Given the description of an element on the screen output the (x, y) to click on. 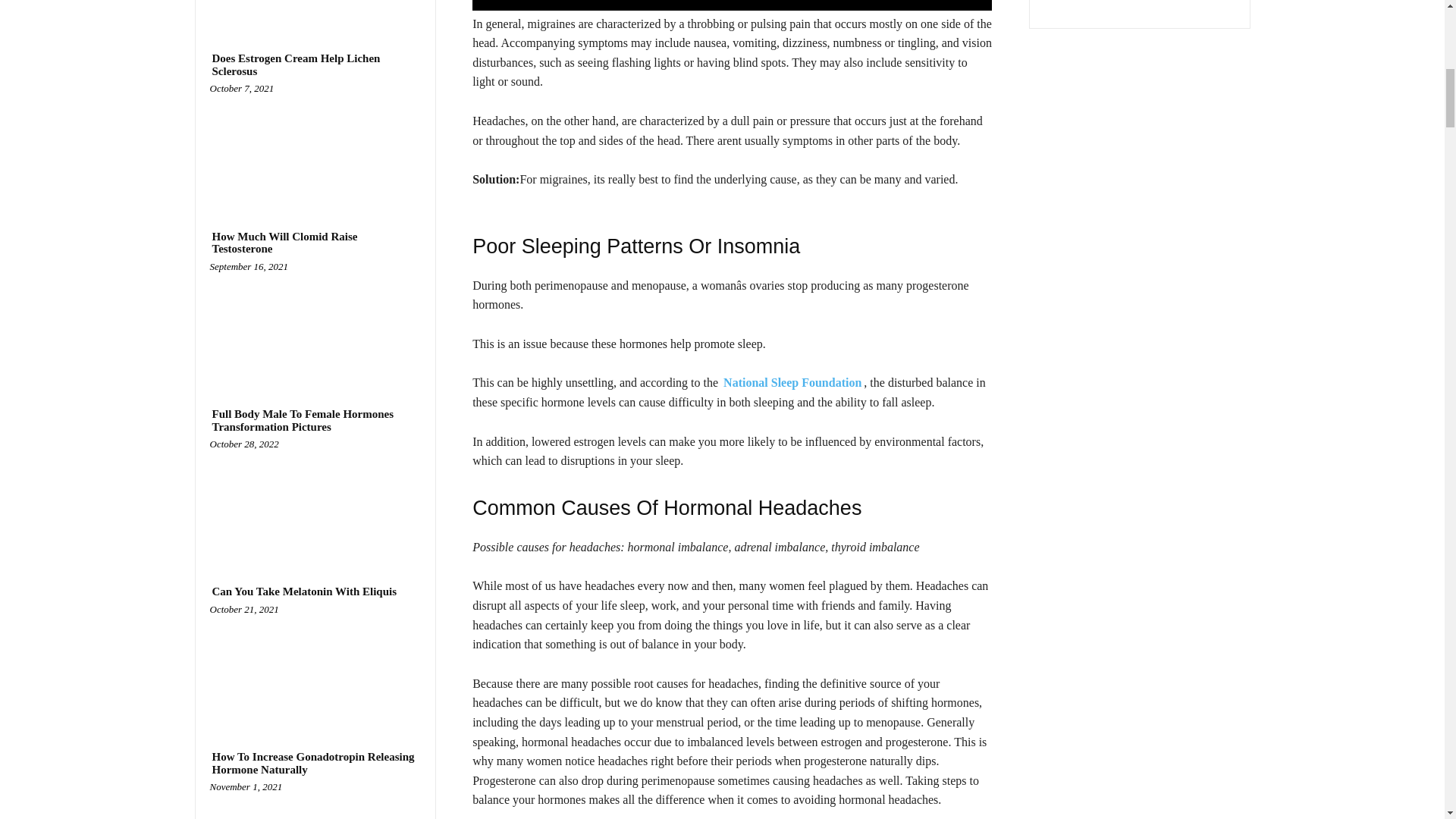
Does Estrogen Cream Help Lichen Sclerosus (314, 144)
